Given the description of an element on the screen output the (x, y) to click on. 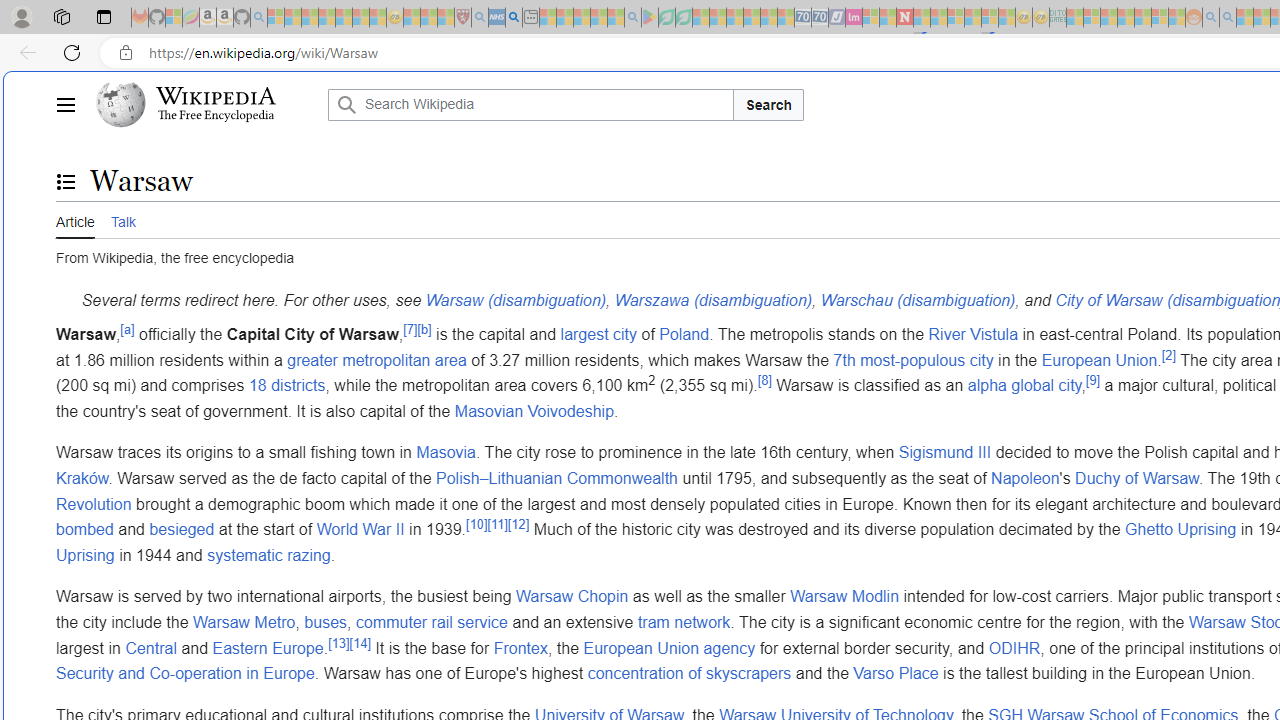
7th most-populous city (913, 359)
[12] (517, 524)
[13] (338, 642)
18 districts (287, 386)
Napoleon (1024, 477)
Masovian Voivodeship (534, 410)
Toggle the table of contents (65, 181)
